Given the description of an element on the screen output the (x, y) to click on. 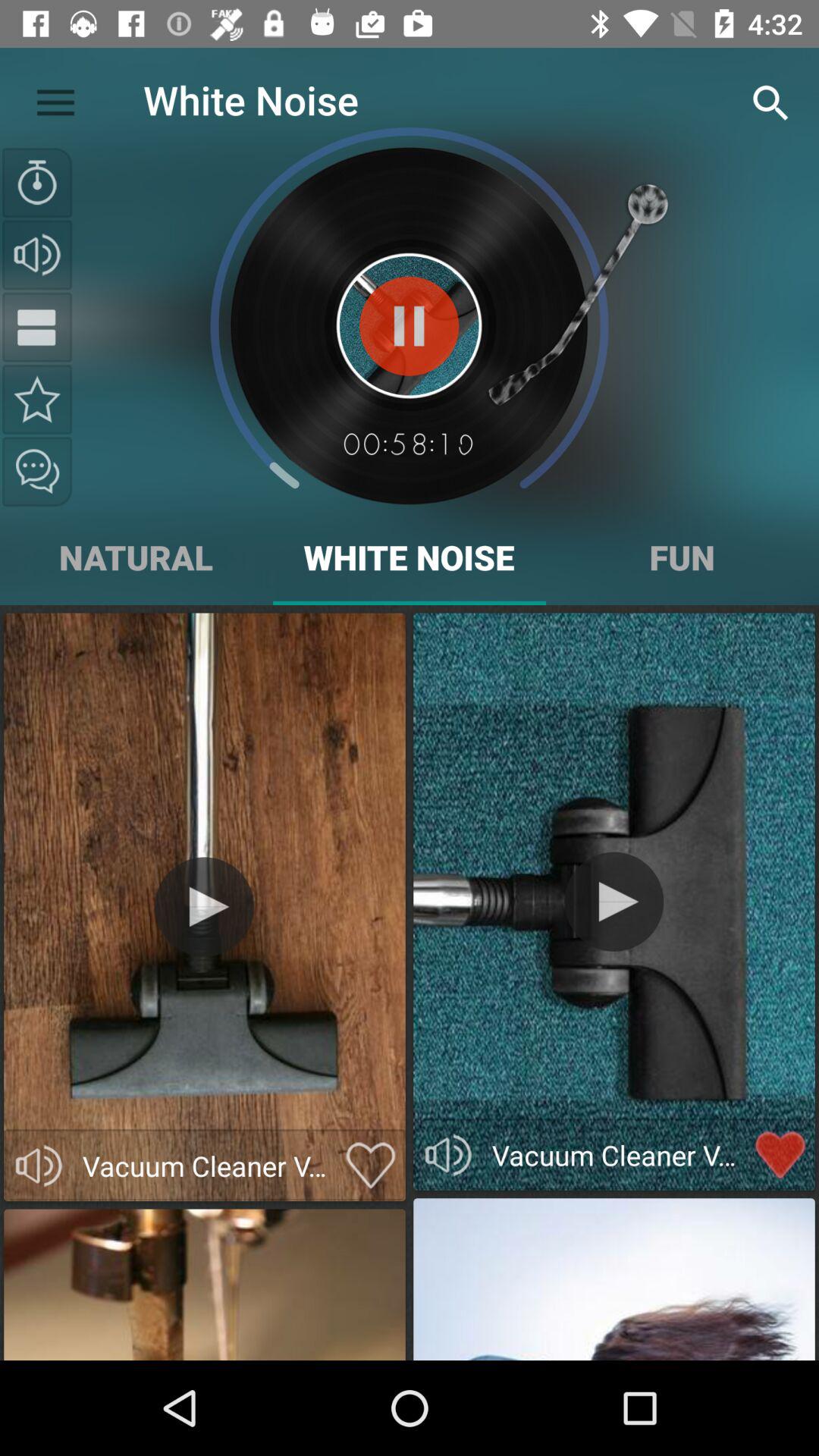
play (613, 901)
